Given the description of an element on the screen output the (x, y) to click on. 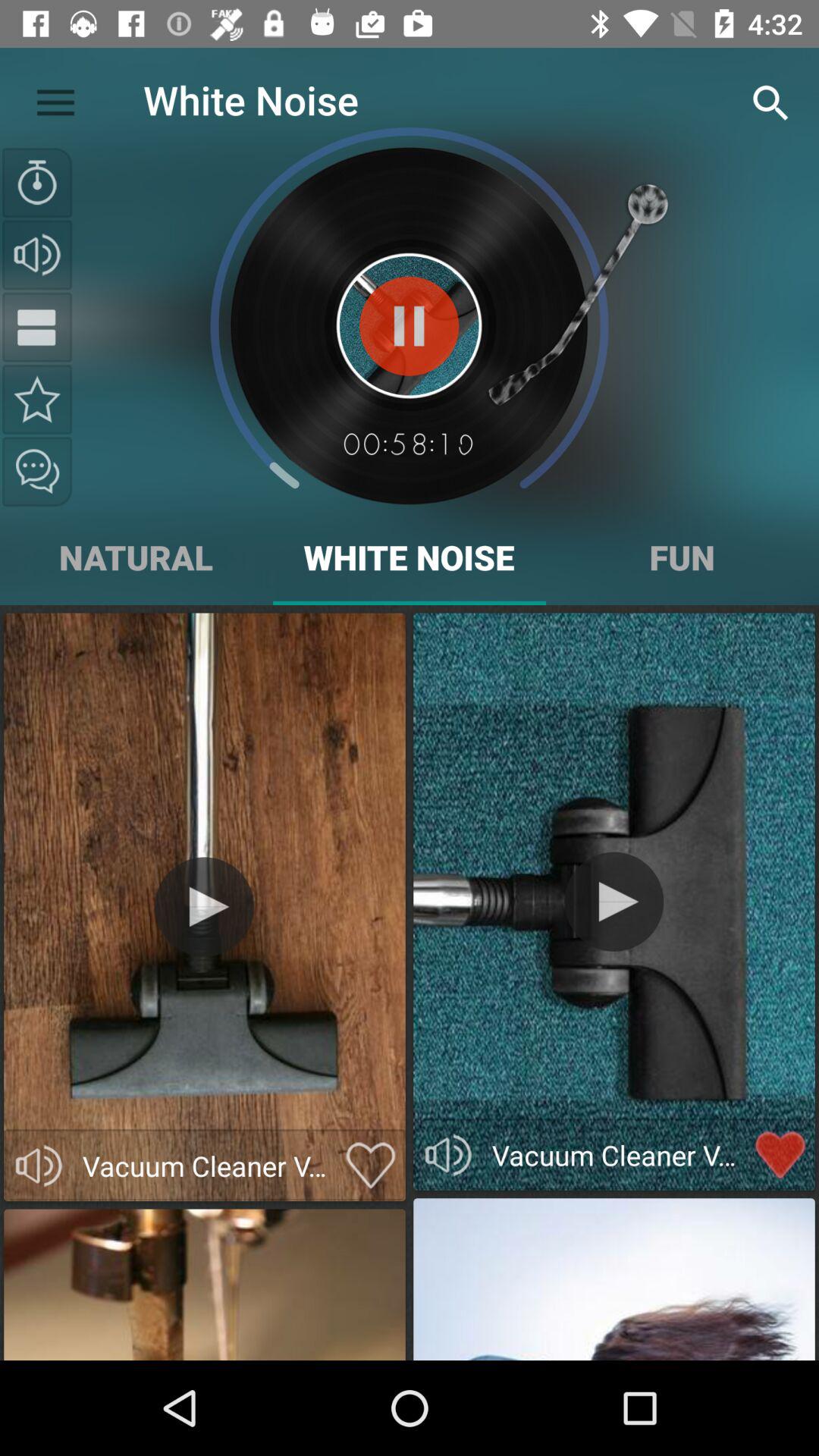
play (613, 901)
